Given the description of an element on the screen output the (x, y) to click on. 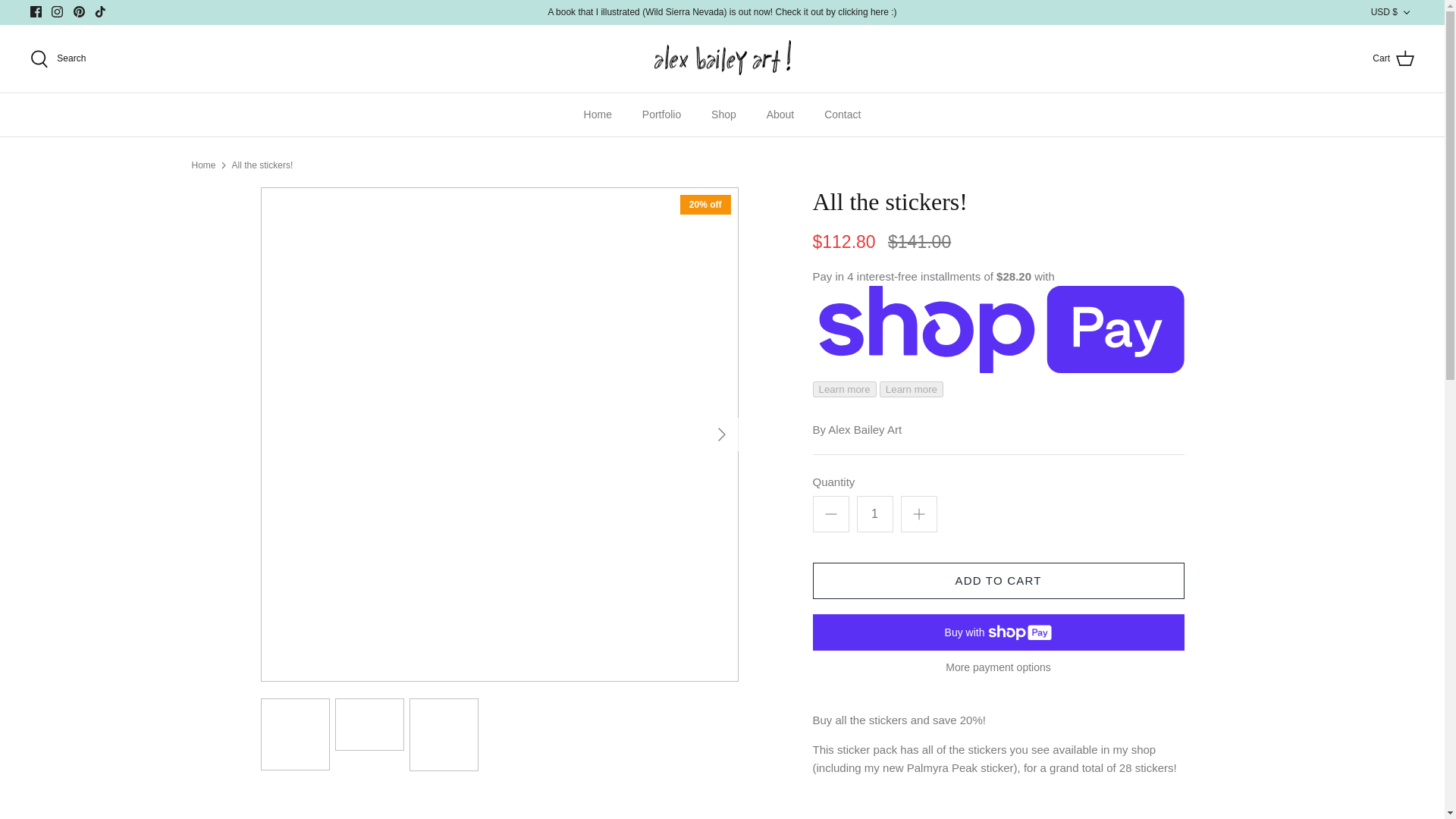
Pinterest (79, 11)
Instagram (56, 11)
Pinterest (79, 11)
RIGHT (721, 434)
Down (1406, 12)
About (780, 114)
Alex Bailey Art (721, 58)
Plus (919, 514)
Search (57, 58)
Portfolio (661, 114)
